Given the description of an element on the screen output the (x, y) to click on. 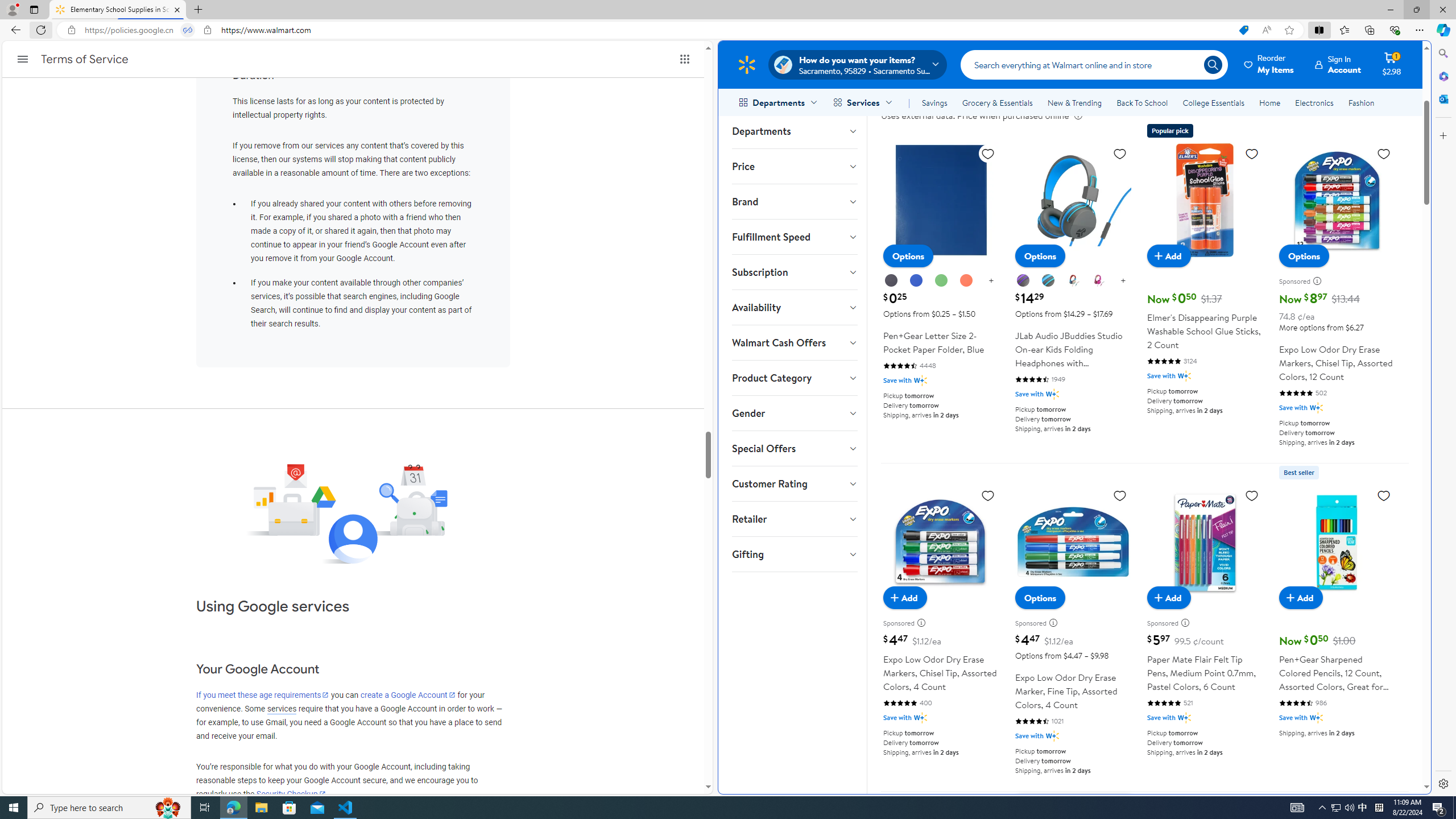
Back To School (1141, 102)
Gifting (794, 554)
Availability (794, 307)
Product Category (794, 377)
Green (940, 280)
Subscription (794, 271)
